Given the description of an element on the screen output the (x, y) to click on. 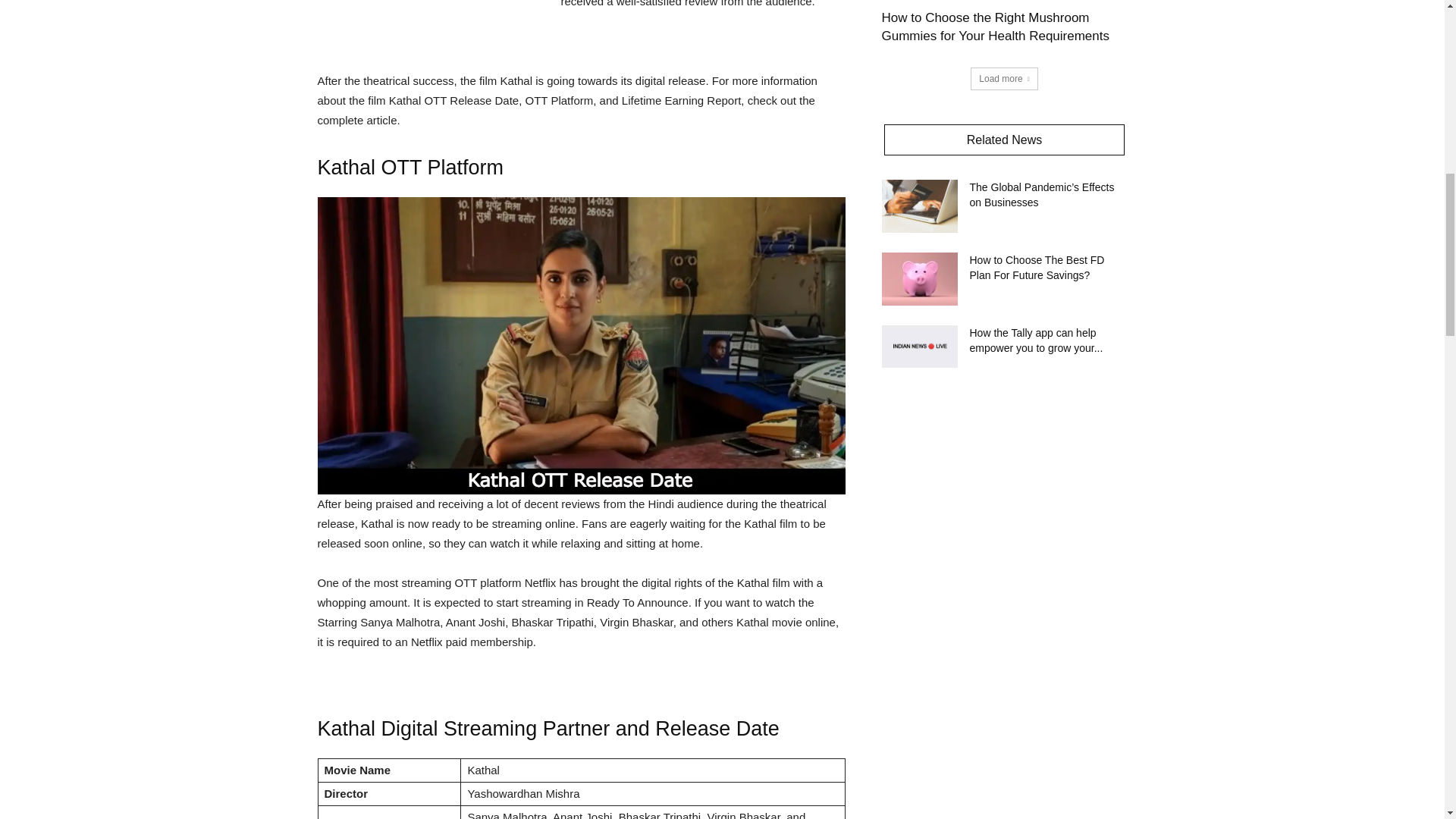
Advertisement (430, 27)
